Given the description of an element on the screen output the (x, y) to click on. 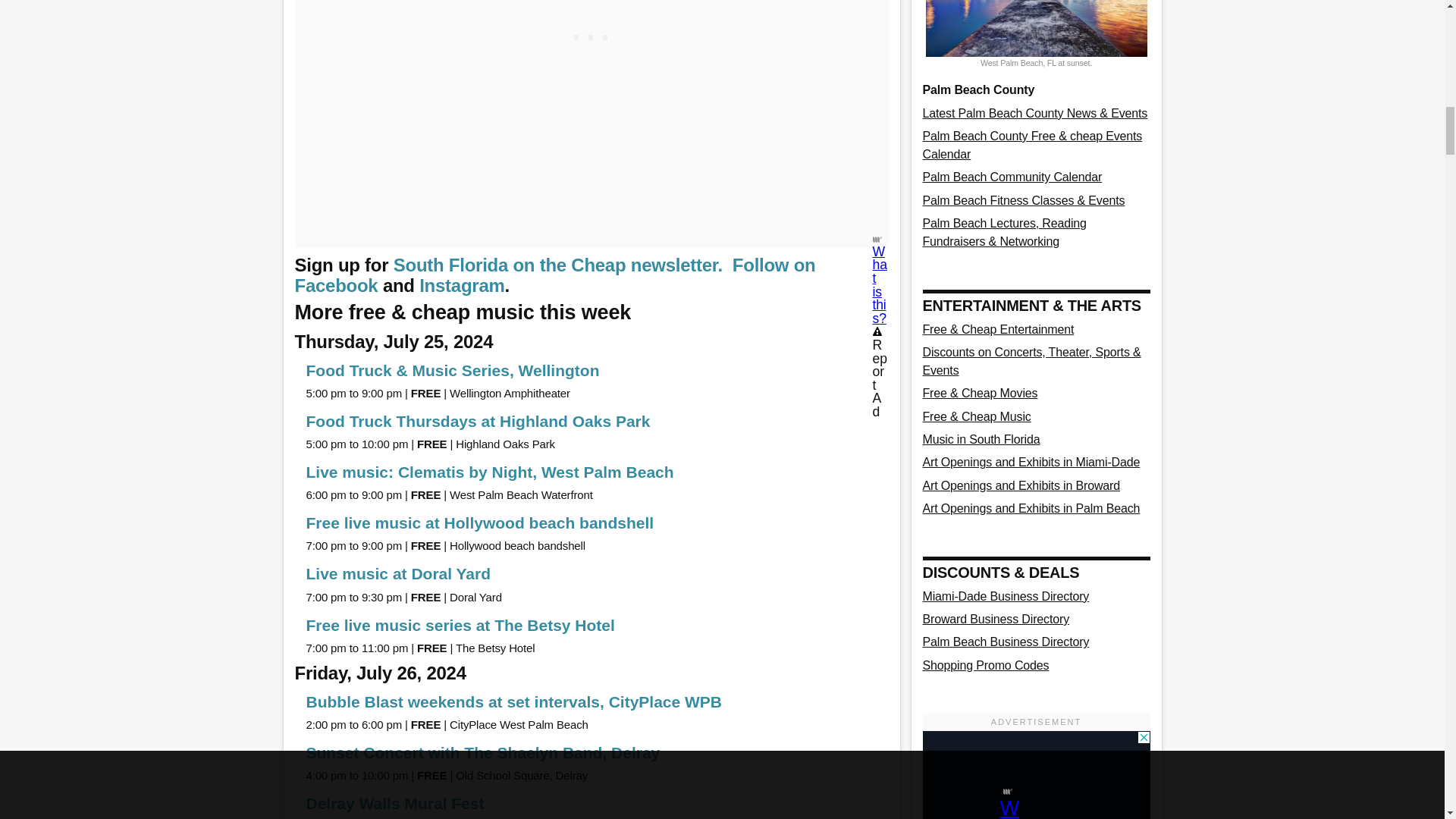
3rd party ad content (1035, 775)
